Given the description of an element on the screen output the (x, y) to click on. 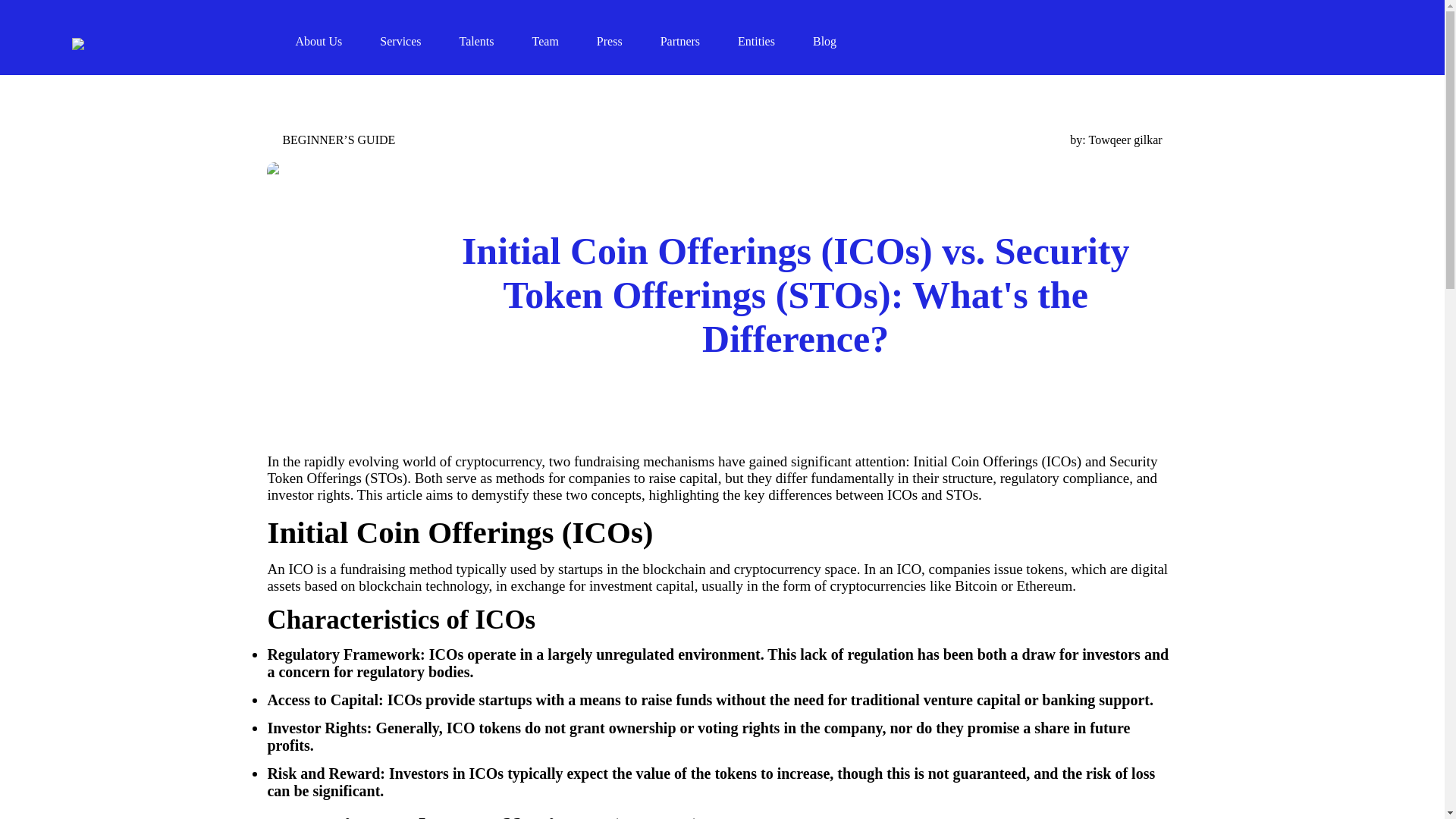
Press (628, 44)
Talents (496, 44)
Entities (775, 44)
About Us (337, 44)
Partners (699, 44)
Blog (843, 44)
Services (419, 44)
Team (564, 44)
